Given the description of an element on the screen output the (x, y) to click on. 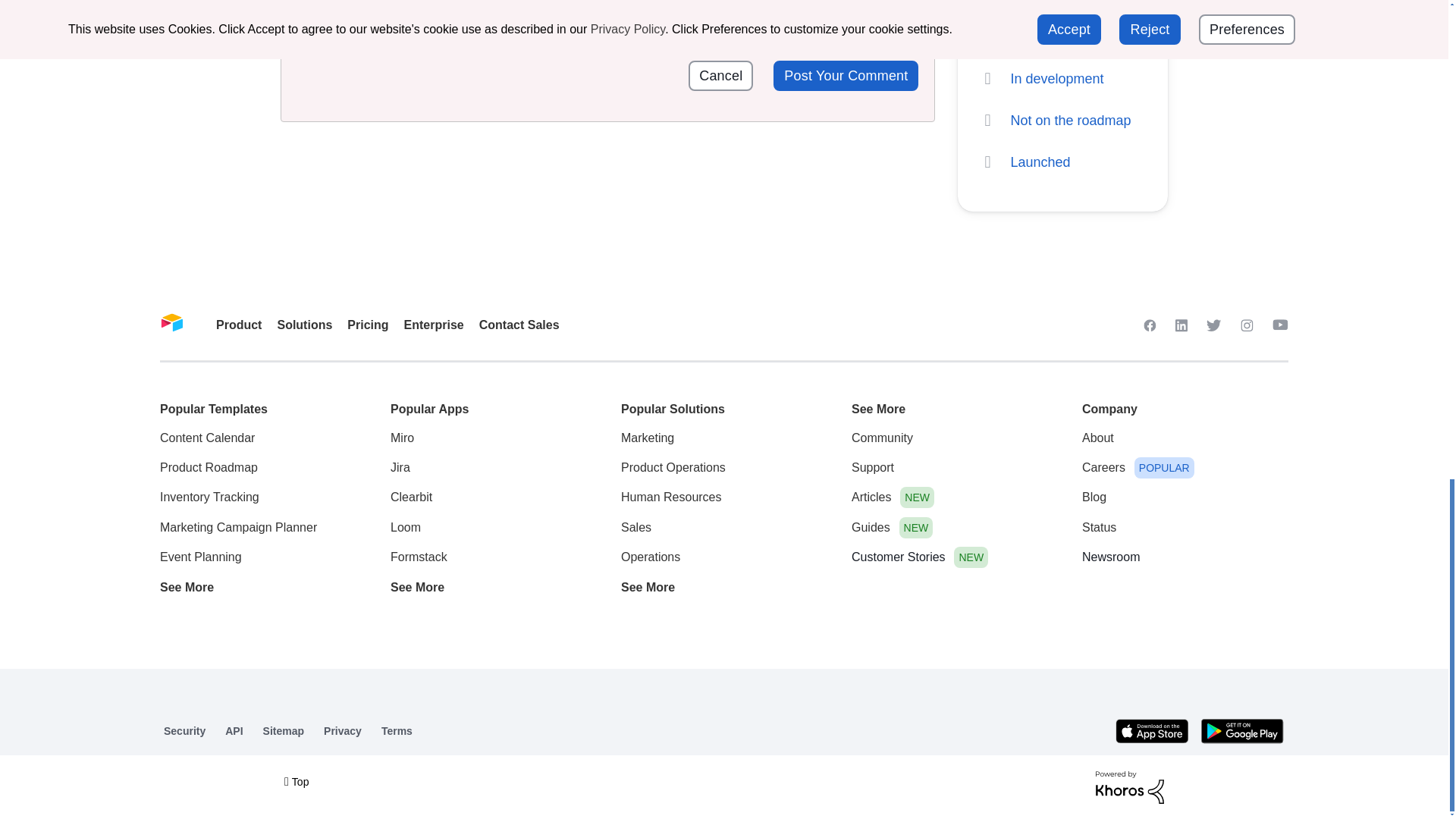
Top (296, 780)
Cancel (720, 75)
Post Your Comment (845, 75)
Top (296, 780)
